Given the description of an element on the screen output the (x, y) to click on. 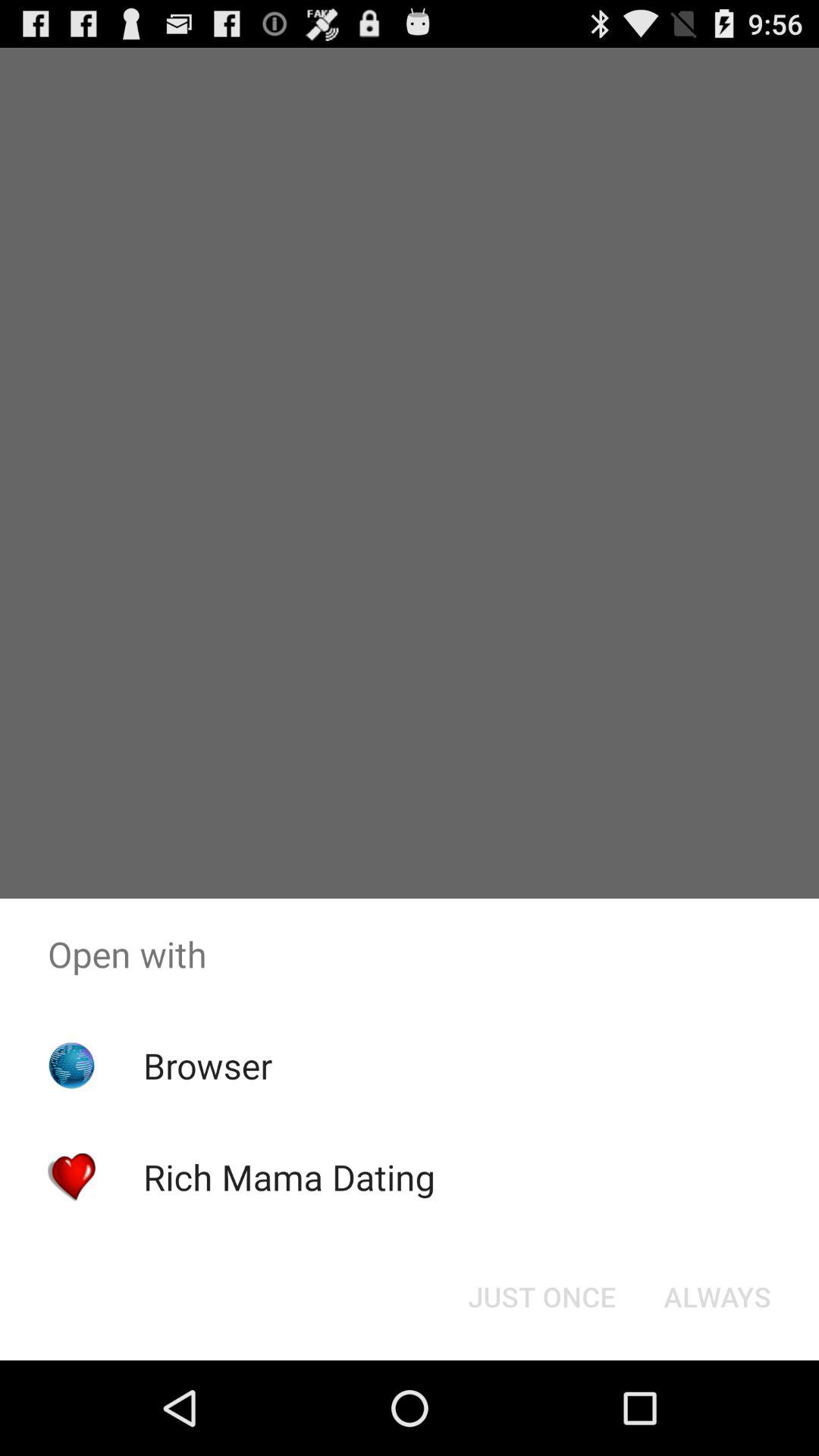
open icon below open with (541, 1296)
